Given the description of an element on the screen output the (x, y) to click on. 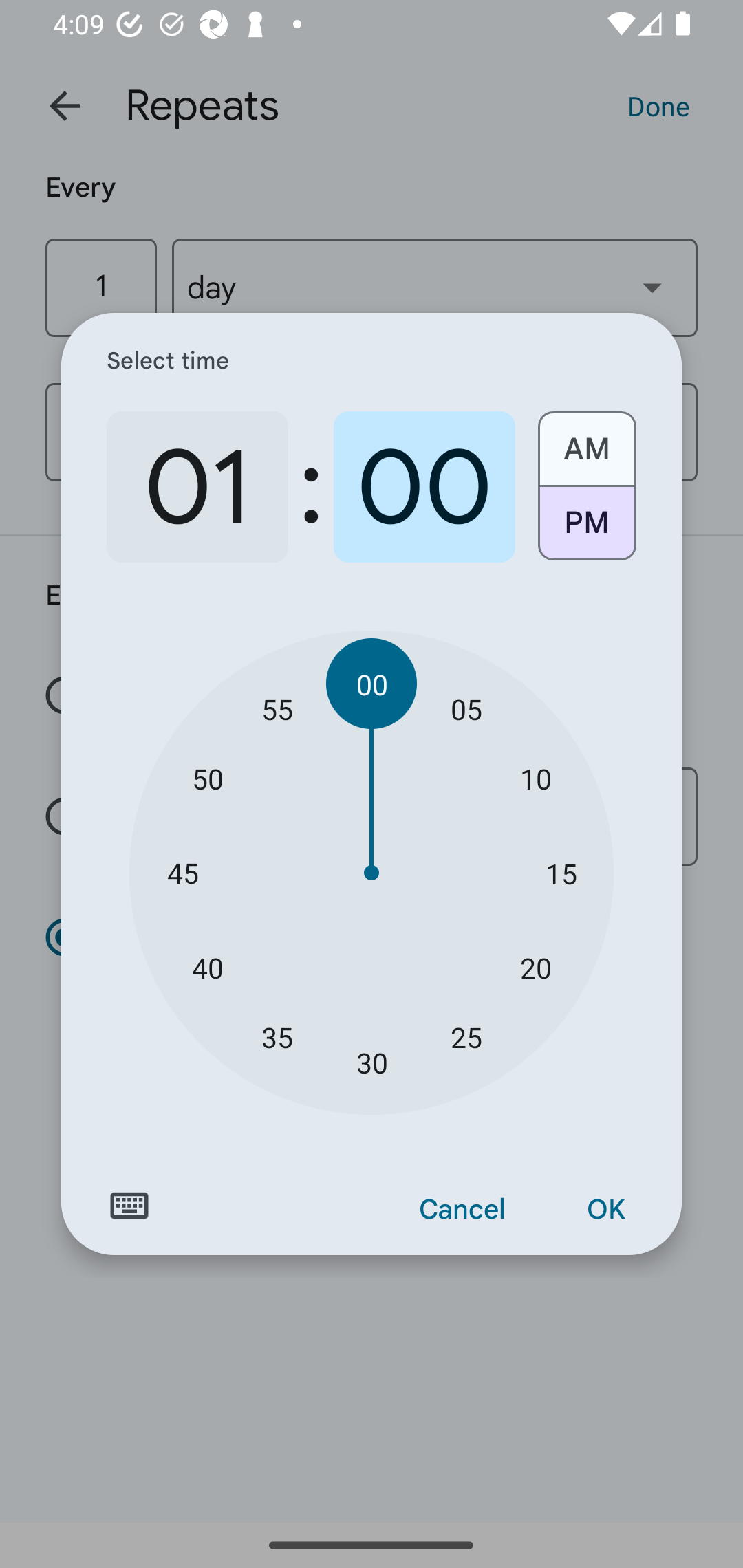
AM (586, 441)
01 1 o'clock (197, 486)
00 0 minutes (424, 486)
PM (586, 529)
00 00 minutes (371, 683)
55 55 minutes (276, 708)
05 05 minutes (466, 708)
50 50 minutes (207, 778)
10 10 minutes (535, 778)
45 45 minutes (182, 872)
15 15 minutes (561, 872)
40 40 minutes (207, 966)
20 20 minutes (535, 966)
35 35 minutes (276, 1035)
25 25 minutes (466, 1035)
30 30 minutes (371, 1062)
Switch to text input mode for the time input. (128, 1205)
Cancel (462, 1209)
OK (605, 1209)
